Given the description of an element on the screen output the (x, y) to click on. 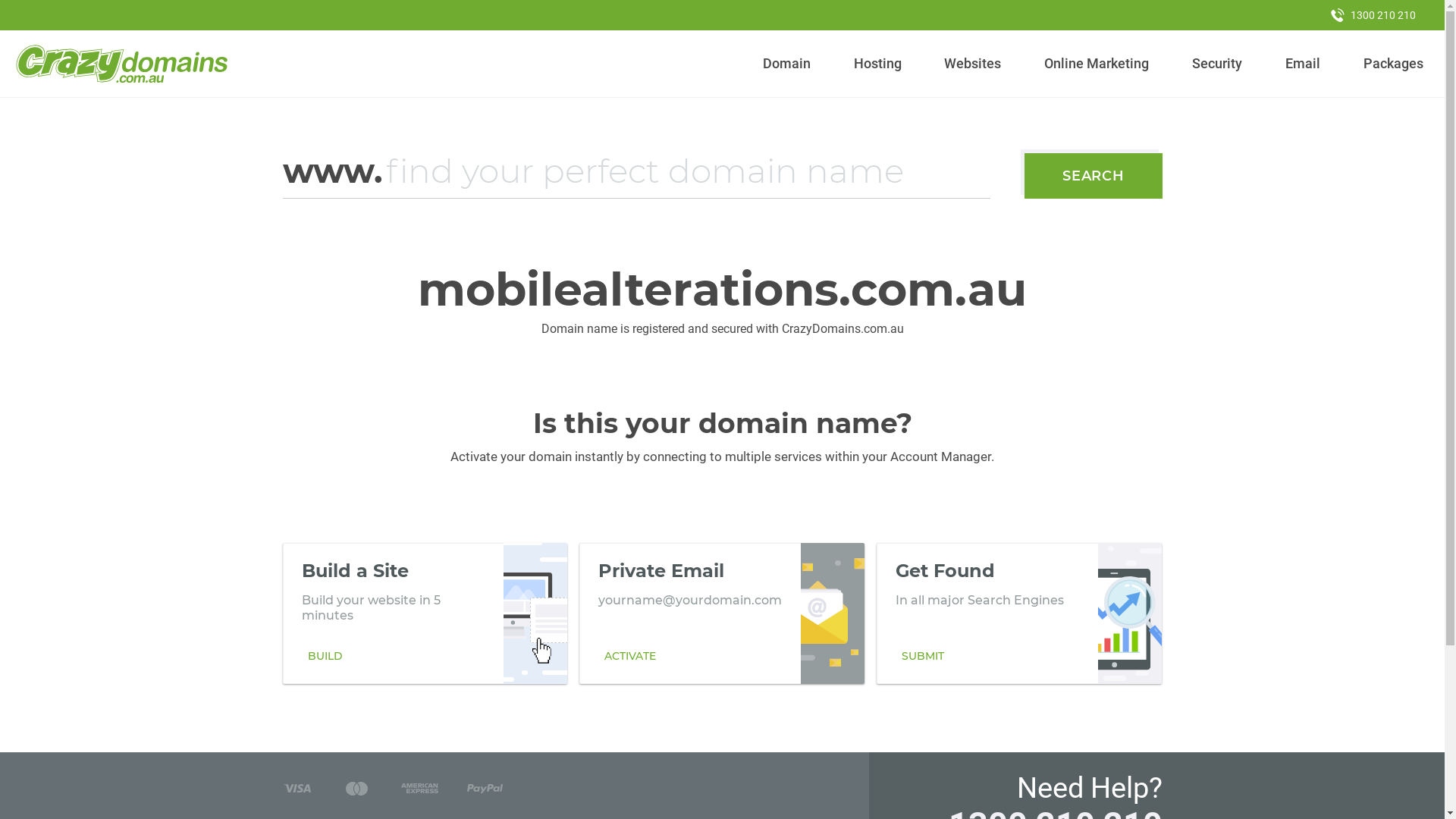
Private Email
yourname@yourdomain.com
ACTIVATE Element type: text (721, 613)
Websites Element type: text (972, 63)
1300 210 210 Element type: text (1373, 15)
SEARCH Element type: text (1092, 175)
Security Element type: text (1217, 63)
Build a Site
Build your website in 5 minutes
BUILD Element type: text (424, 613)
Online Marketing Element type: text (1096, 63)
Packages Element type: text (1392, 63)
Get Found
In all major Search Engines
SUBMIT Element type: text (1018, 613)
Email Element type: text (1302, 63)
Hosting Element type: text (877, 63)
Domain Element type: text (786, 63)
